Given the description of an element on the screen output the (x, y) to click on. 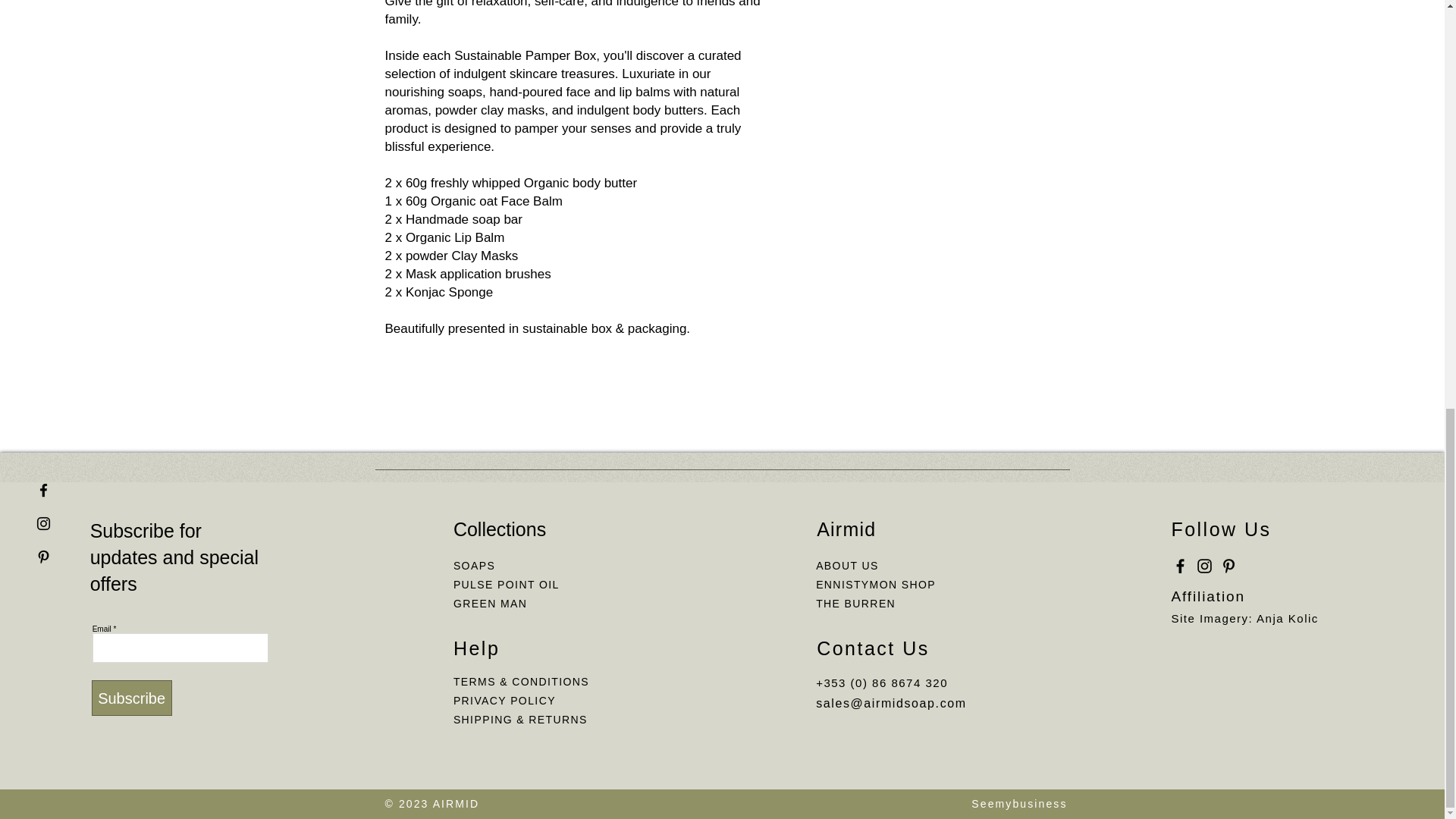
SOAPS (473, 565)
ABOUT US (847, 565)
Subscribe (131, 697)
PULSE POINT OIL (505, 584)
Collections (499, 528)
PRIVACY POLICY  (505, 700)
GREEN MAN (489, 603)
